Given the description of an element on the screen output the (x, y) to click on. 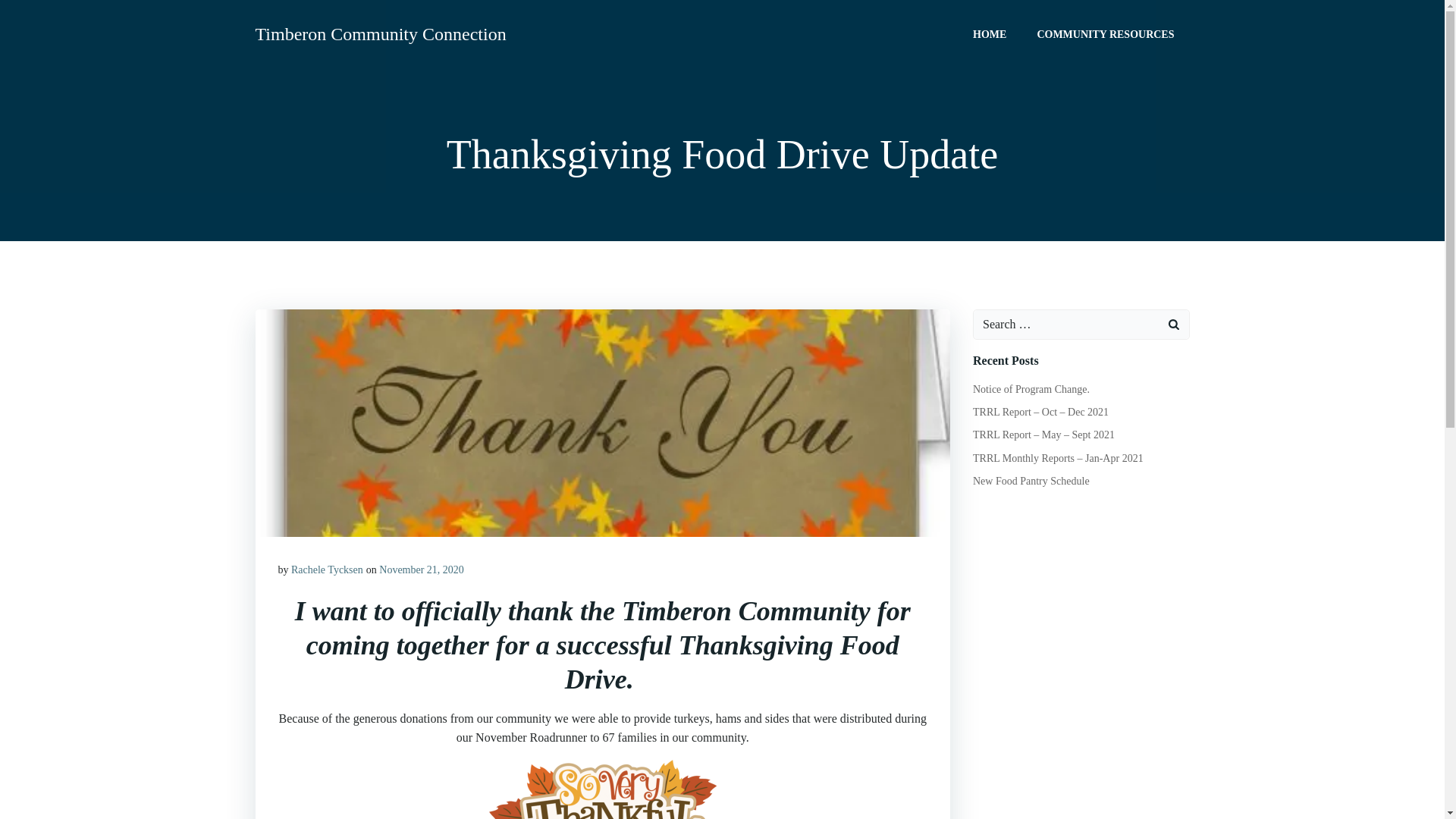
November 21, 2020 (421, 569)
Privacy Policy (721, 748)
Timberon Community Connection (379, 33)
COMMUNITY RESOURCES (1104, 33)
New Food Pantry Schedule (1030, 480)
Rachele Tycksen (326, 569)
Search  (29, 14)
HOME (989, 33)
Notice of Program Change. (1030, 389)
